Given the description of an element on the screen output the (x, y) to click on. 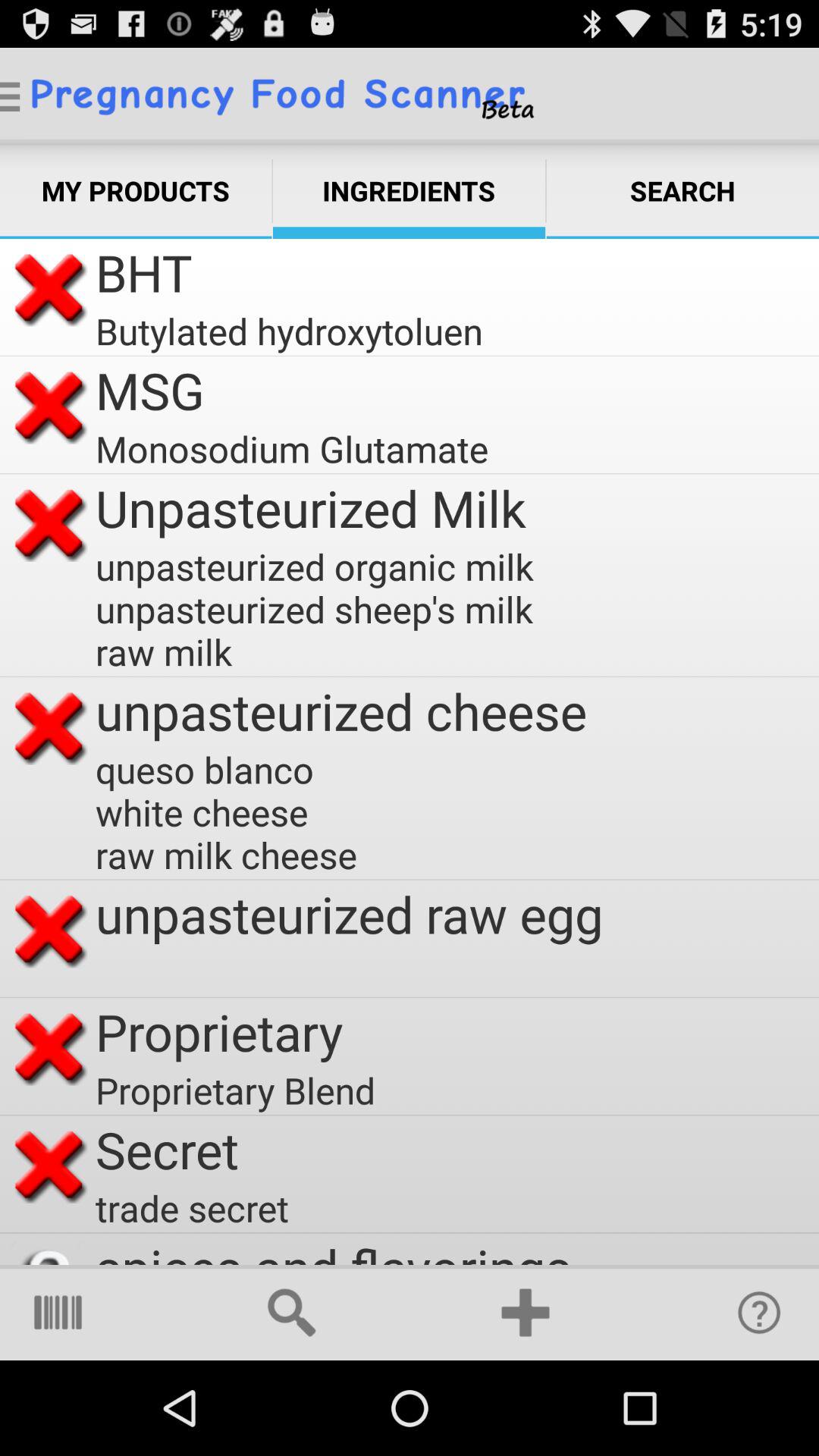
scroll until the bht icon (143, 272)
